Given the description of an element on the screen output the (x, y) to click on. 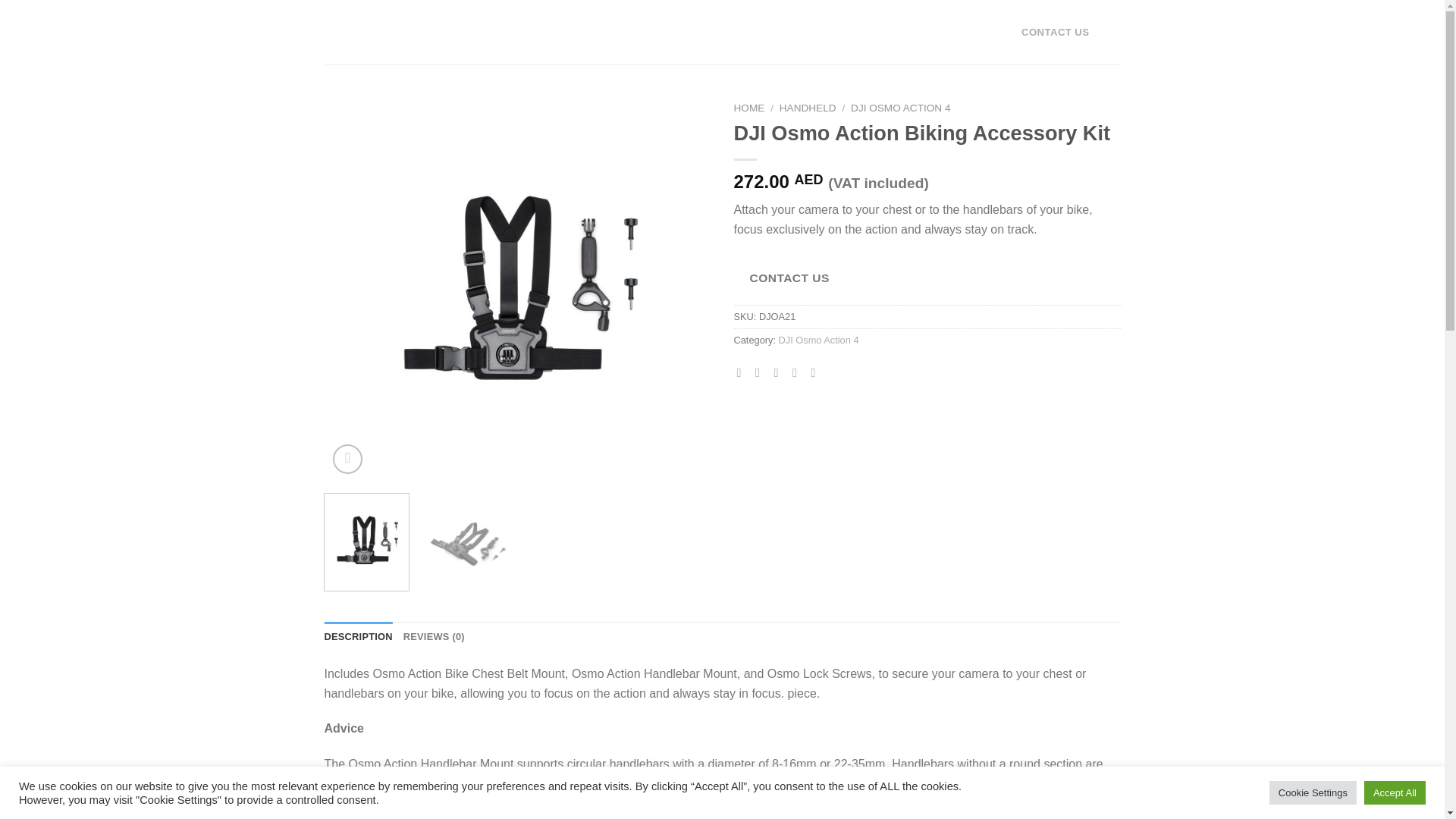
INDUSTRIES (507, 31)
Share on Facebook (742, 372)
Email to a Friend (780, 372)
PRODUCTS (584, 31)
Zoom (347, 459)
Share on Tumblr (816, 372)
CASE STUDIES (667, 31)
